Given the description of an element on the screen output the (x, y) to click on. 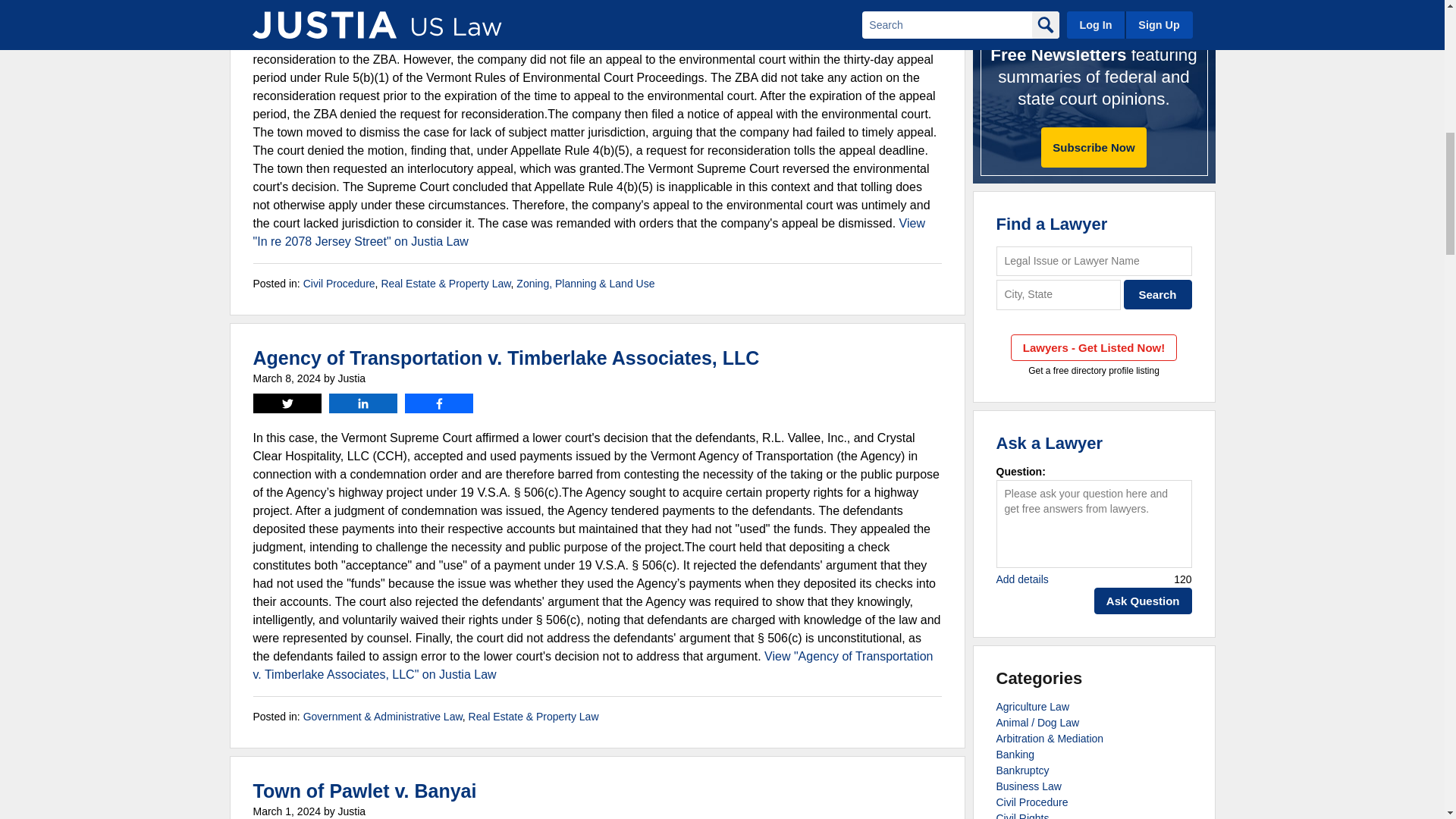
Civil Procedure (338, 283)
Search (1158, 294)
Search (1158, 294)
View all posts in Civil Procedure (338, 283)
Permalink to Town of Pawlet v. Banyai (365, 790)
View "In re 2078 Jersey Street" on Justia Law (588, 232)
